Given the description of an element on the screen output the (x, y) to click on. 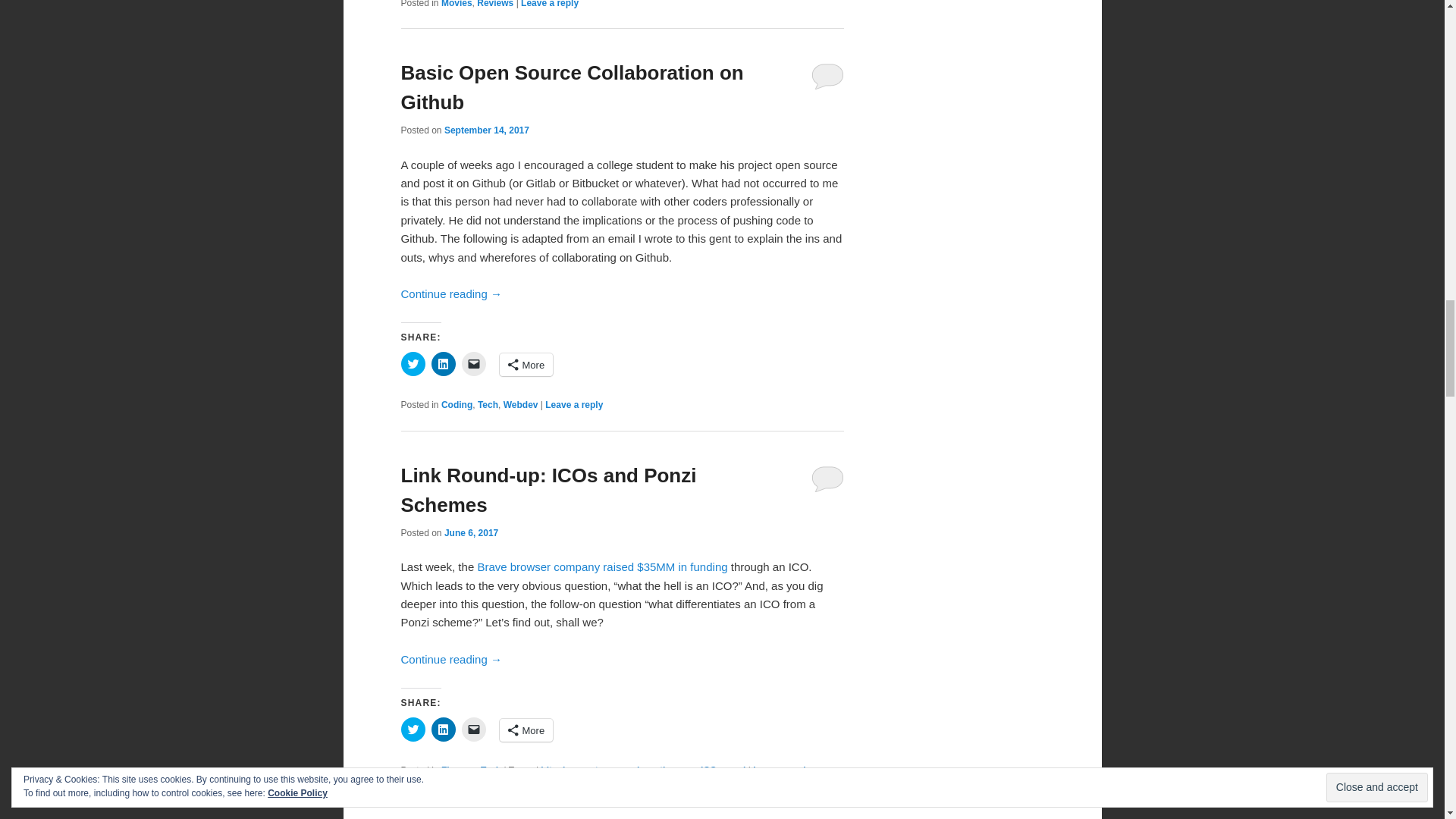
Basic Open Source Collaboration on Github (571, 87)
September 14, 2017 (486, 130)
Click to email a link to a friend (472, 363)
5:09 am (486, 130)
Reviews (495, 4)
Movies (456, 4)
Click to share on LinkedIn (442, 363)
Leave a reply (549, 4)
Click to share on Twitter (412, 363)
